Given the description of an element on the screen output the (x, y) to click on. 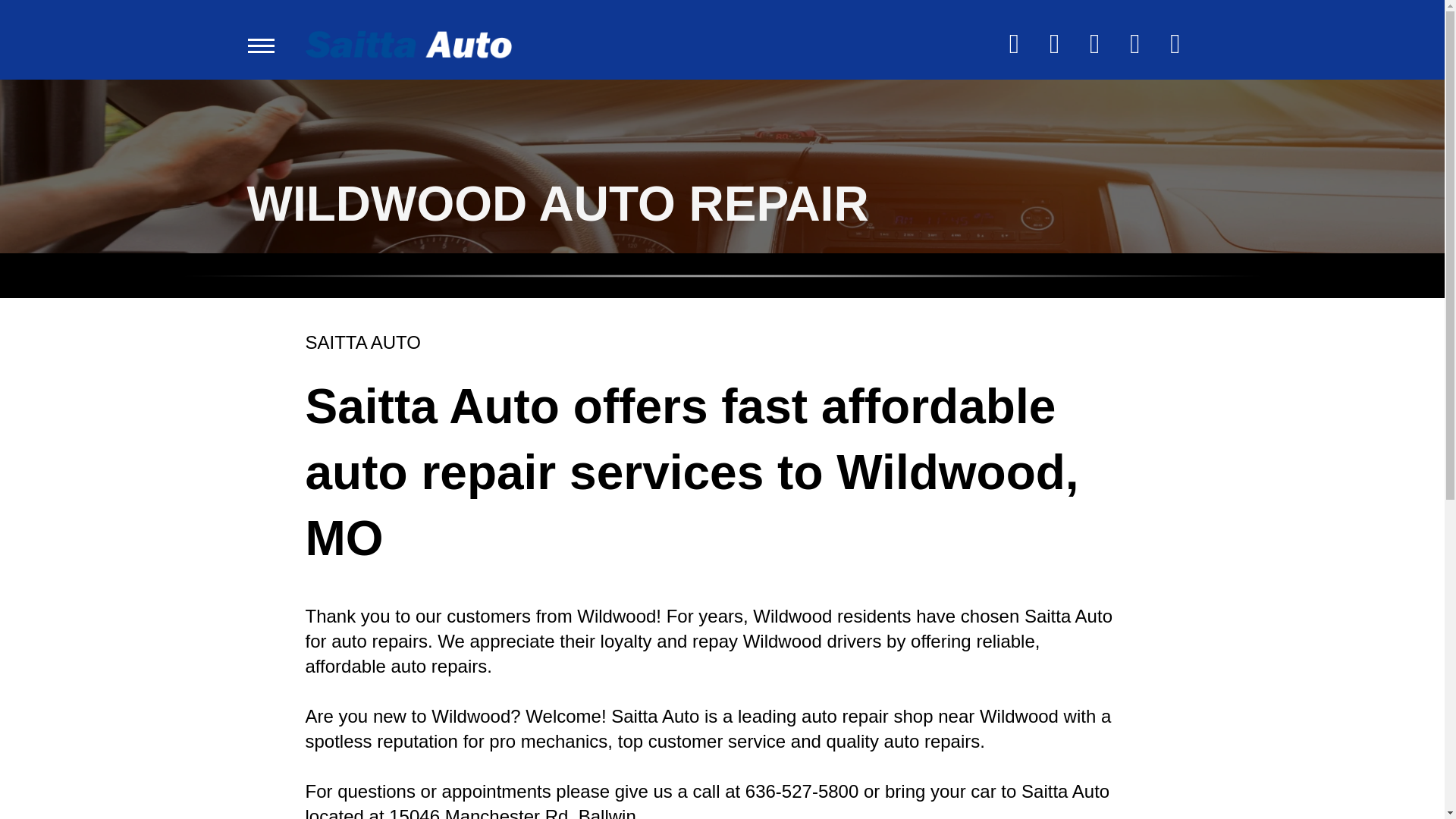
636-527-5800 (802, 791)
SAITTA AUTO (362, 342)
